Given the description of an element on the screen output the (x, y) to click on. 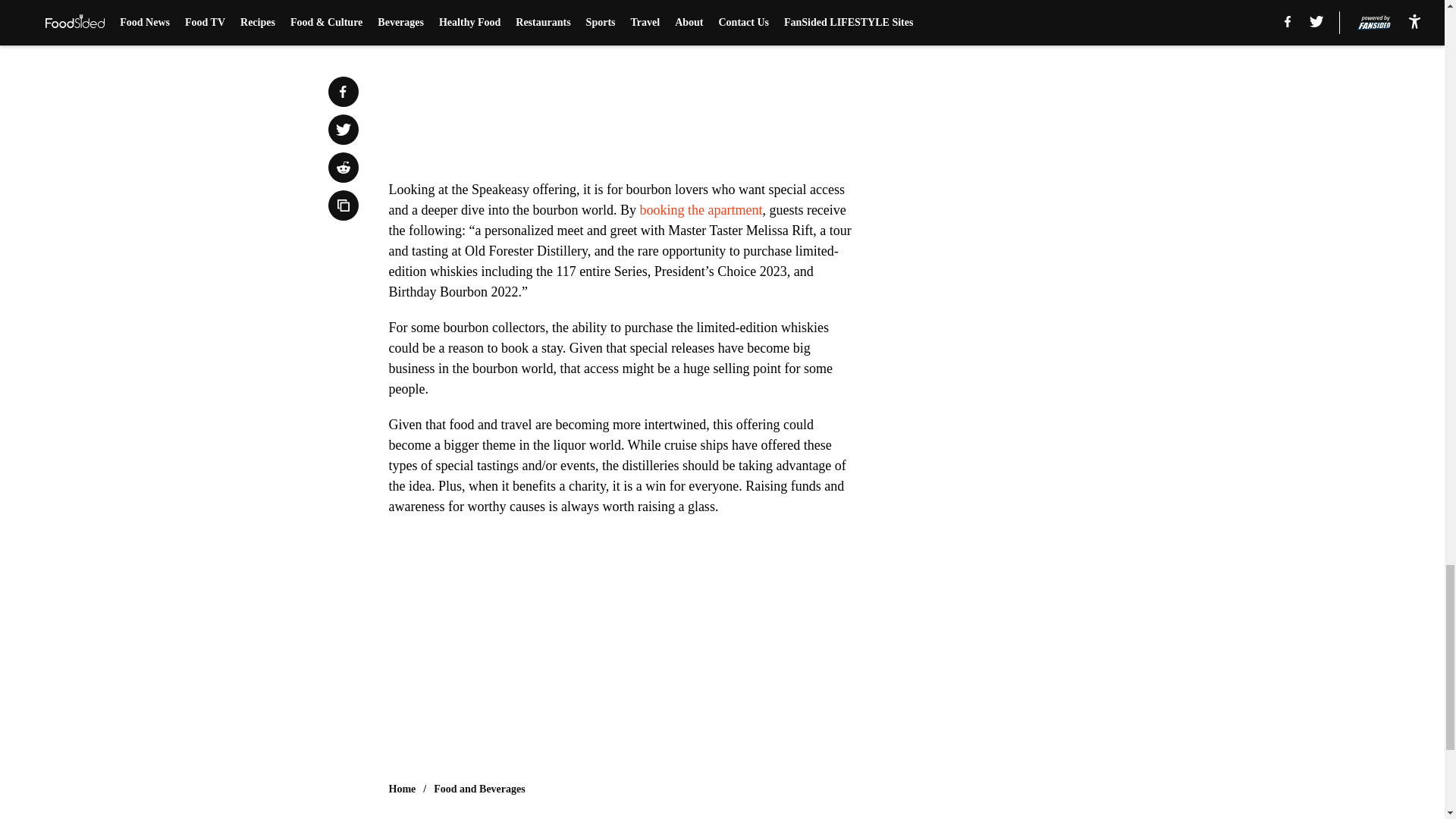
Home (401, 789)
booking the apartment (700, 209)
Food and Beverages (479, 789)
